Given the description of an element on the screen output the (x, y) to click on. 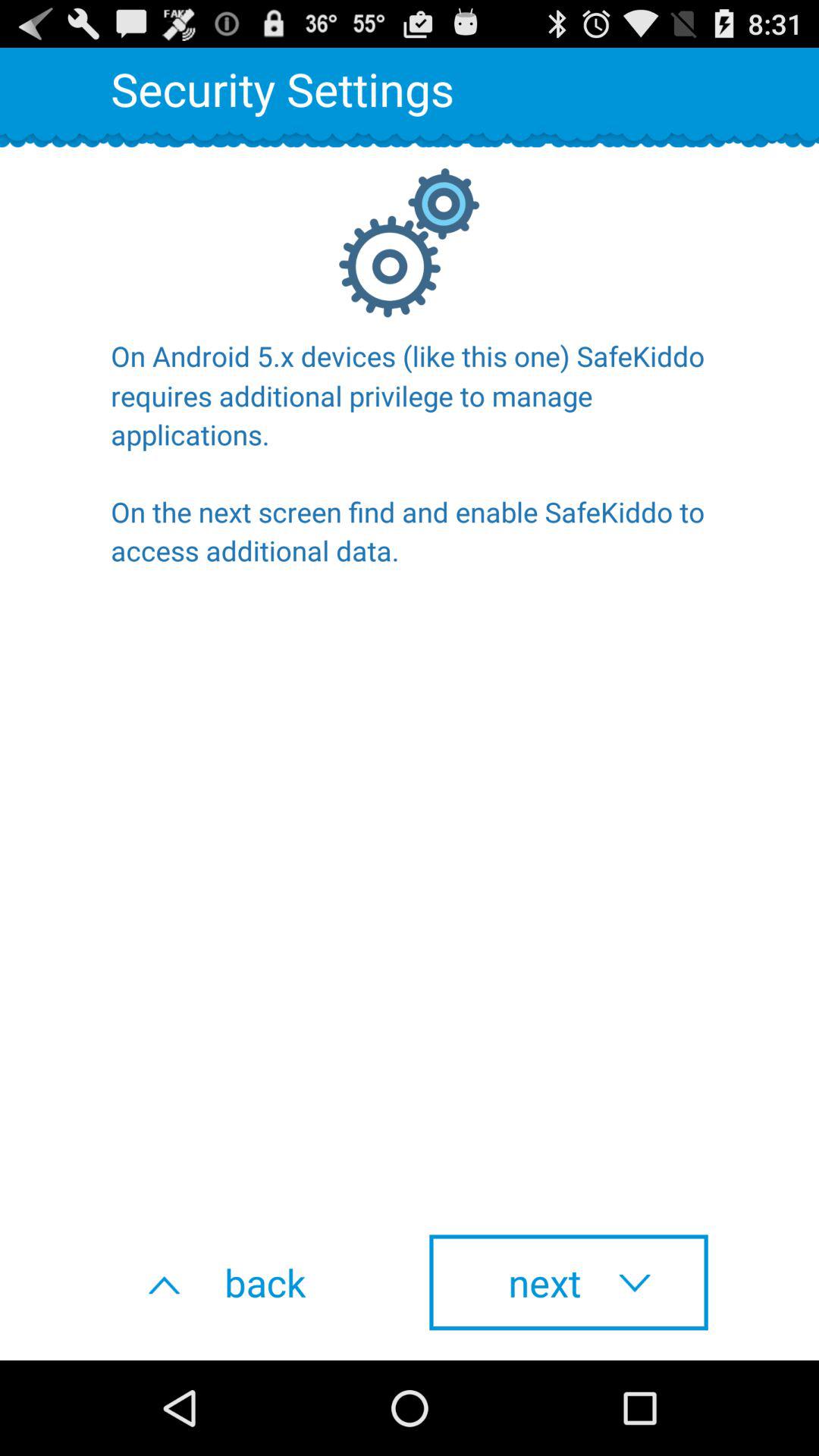
turn on the icon to the left of next (249, 1282)
